Given the description of an element on the screen output the (x, y) to click on. 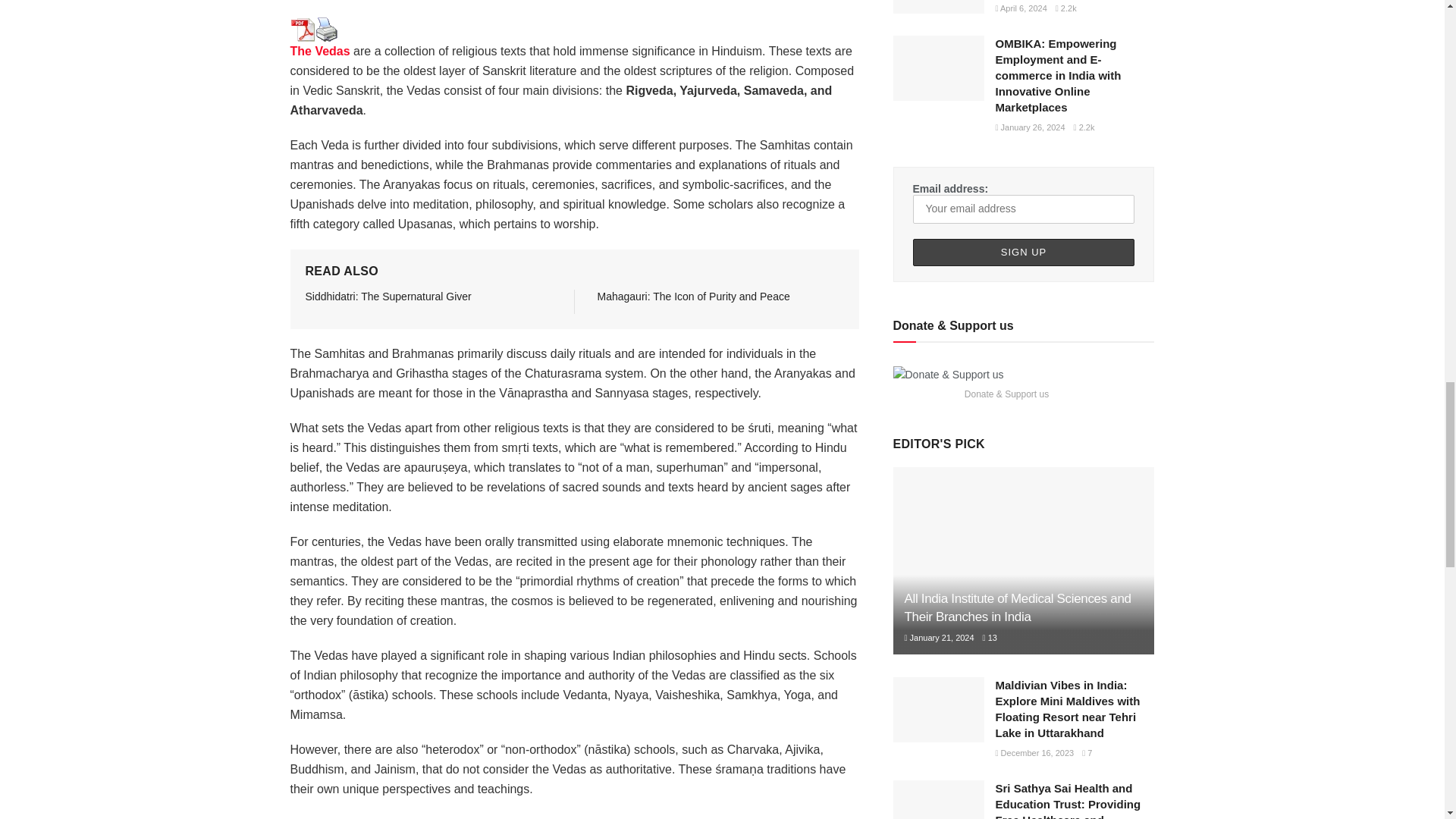
Sign up (1023, 252)
Print Content (325, 29)
View PDF (301, 29)
